Given the description of an element on the screen output the (x, y) to click on. 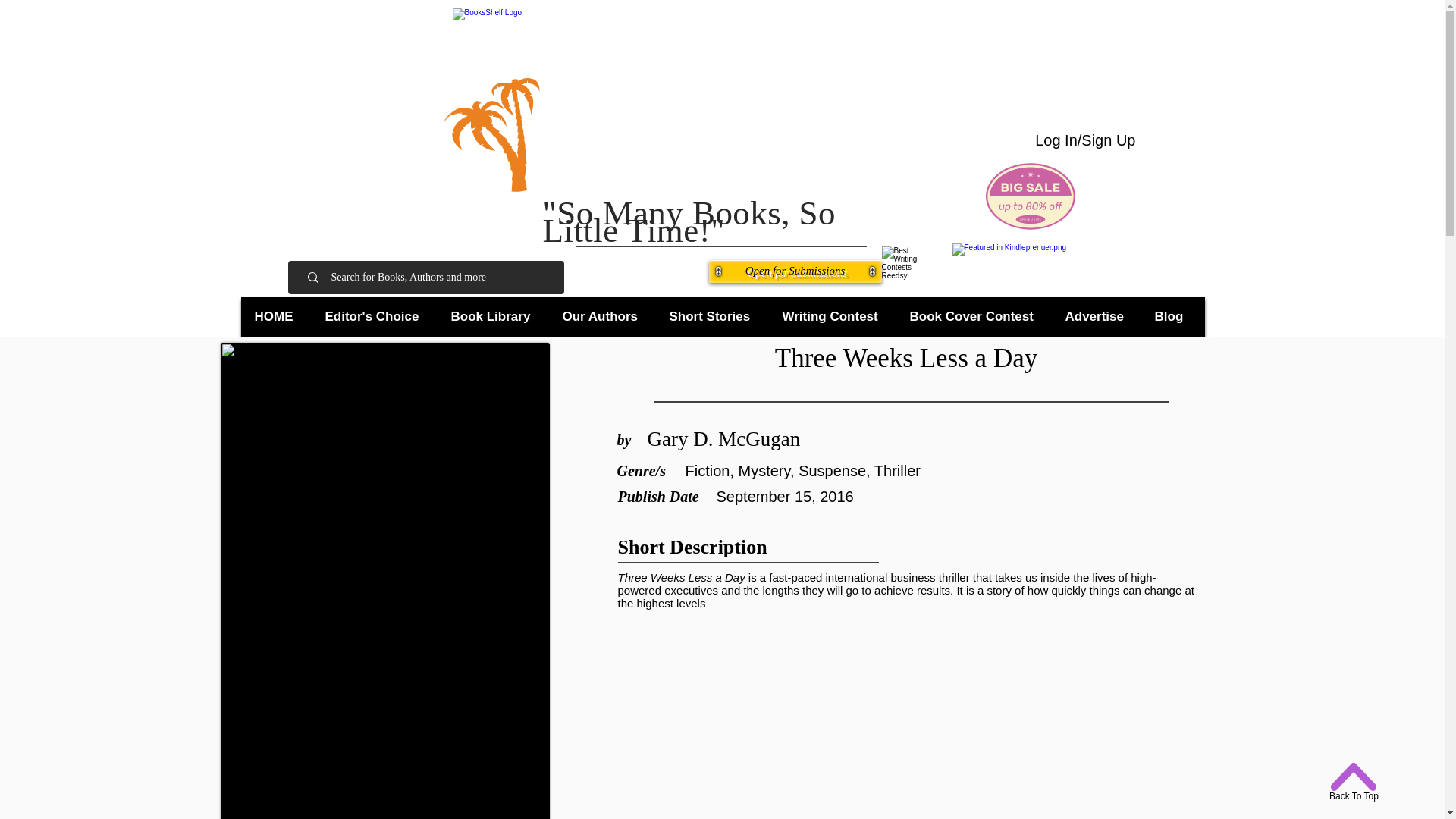
Short Stories (713, 316)
BooksShelf (705, 104)
HOME (278, 316)
Editor's Choice (375, 316)
